Given the description of an element on the screen output the (x, y) to click on. 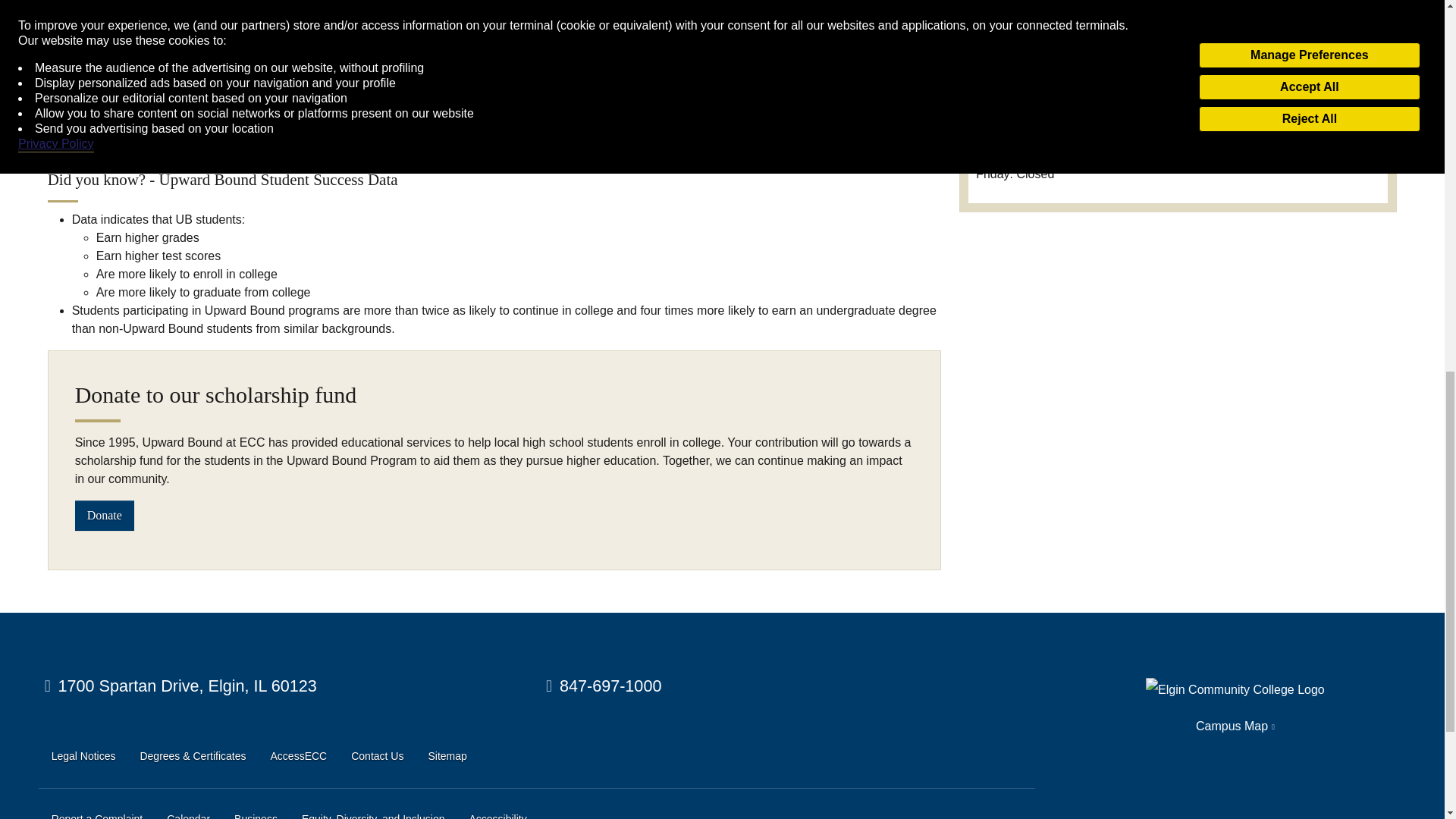
Spartan Drive Campus Map (181, 686)
Donate (104, 514)
Legal Notices (83, 756)
Equity, Diversity, and Inclusion (373, 812)
Report a Complaint (96, 812)
Accessibility (496, 812)
AccessECC (298, 756)
Call 847-214-7253 (1013, 89)
Donate (104, 514)
Contact Us (376, 756)
Sitemap (446, 756)
Contact ECC for general information (603, 686)
Business (256, 812)
View Building K on campus map. (1002, 70)
Calendar (188, 812)
